Given the description of an element on the screen output the (x, y) to click on. 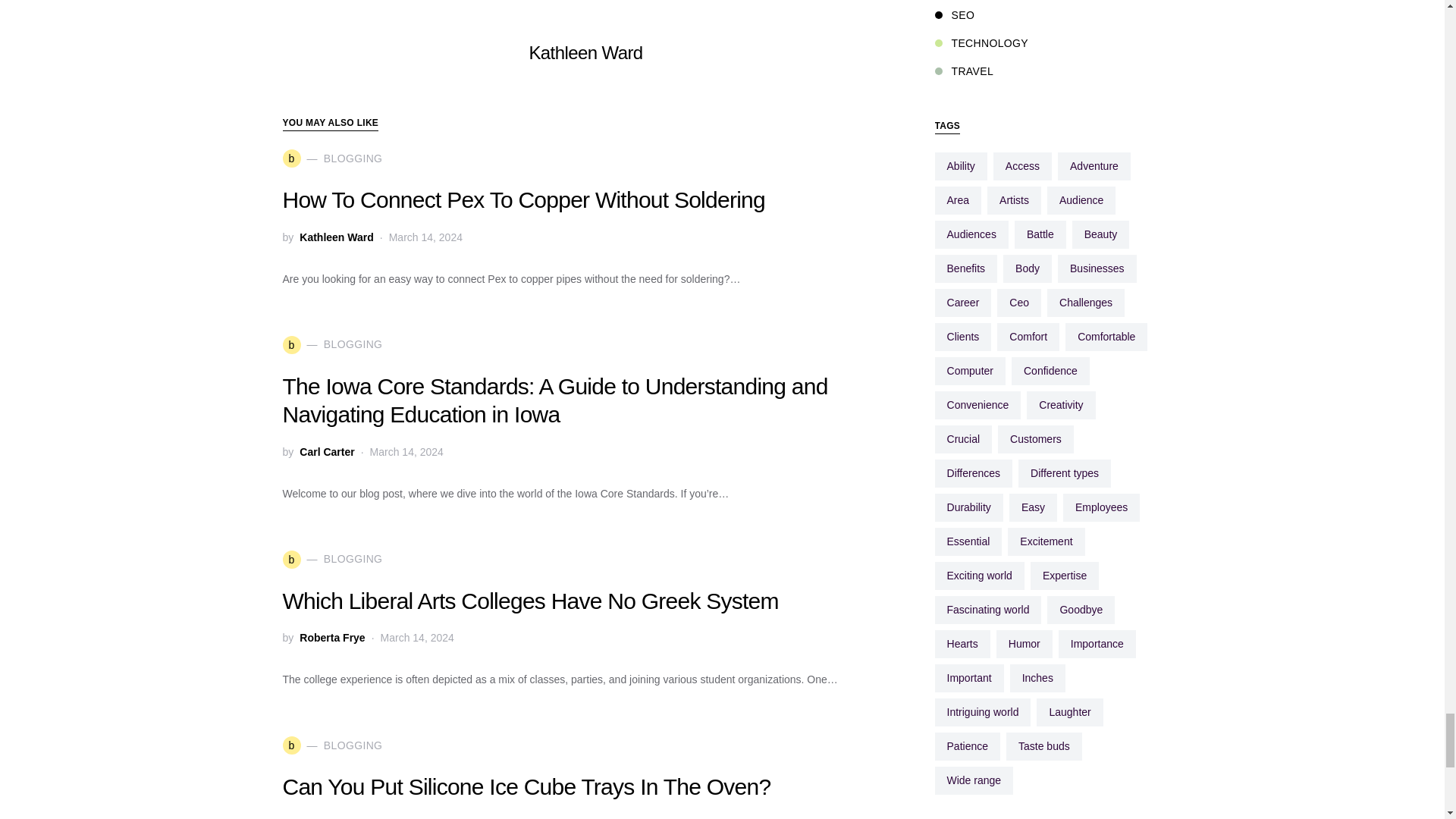
View all posts by Kathryn Rhodes (340, 816)
View all posts by Roberta Frye (332, 637)
View all posts by Carl Carter (326, 451)
View all posts by Kathleen Ward (336, 236)
